Given the description of an element on the screen output the (x, y) to click on. 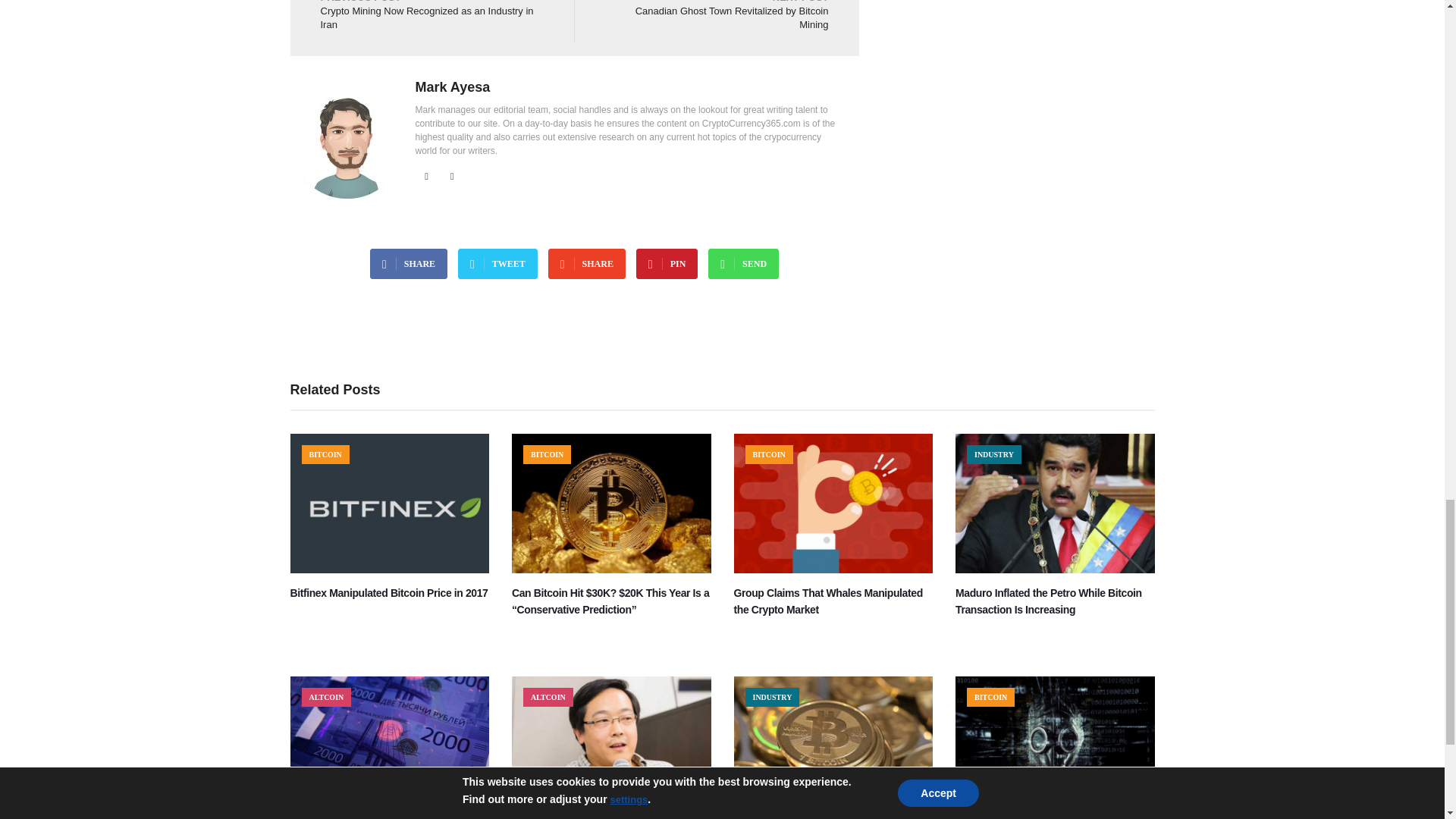
Bitfinex Manipulated Bitcoin Price in 2017 (388, 592)
Posts by Mark Ayesa (452, 87)
Bitfinex Manipulated Bitcoin Price in 2017 (389, 569)
